Given the description of an element on the screen output the (x, y) to click on. 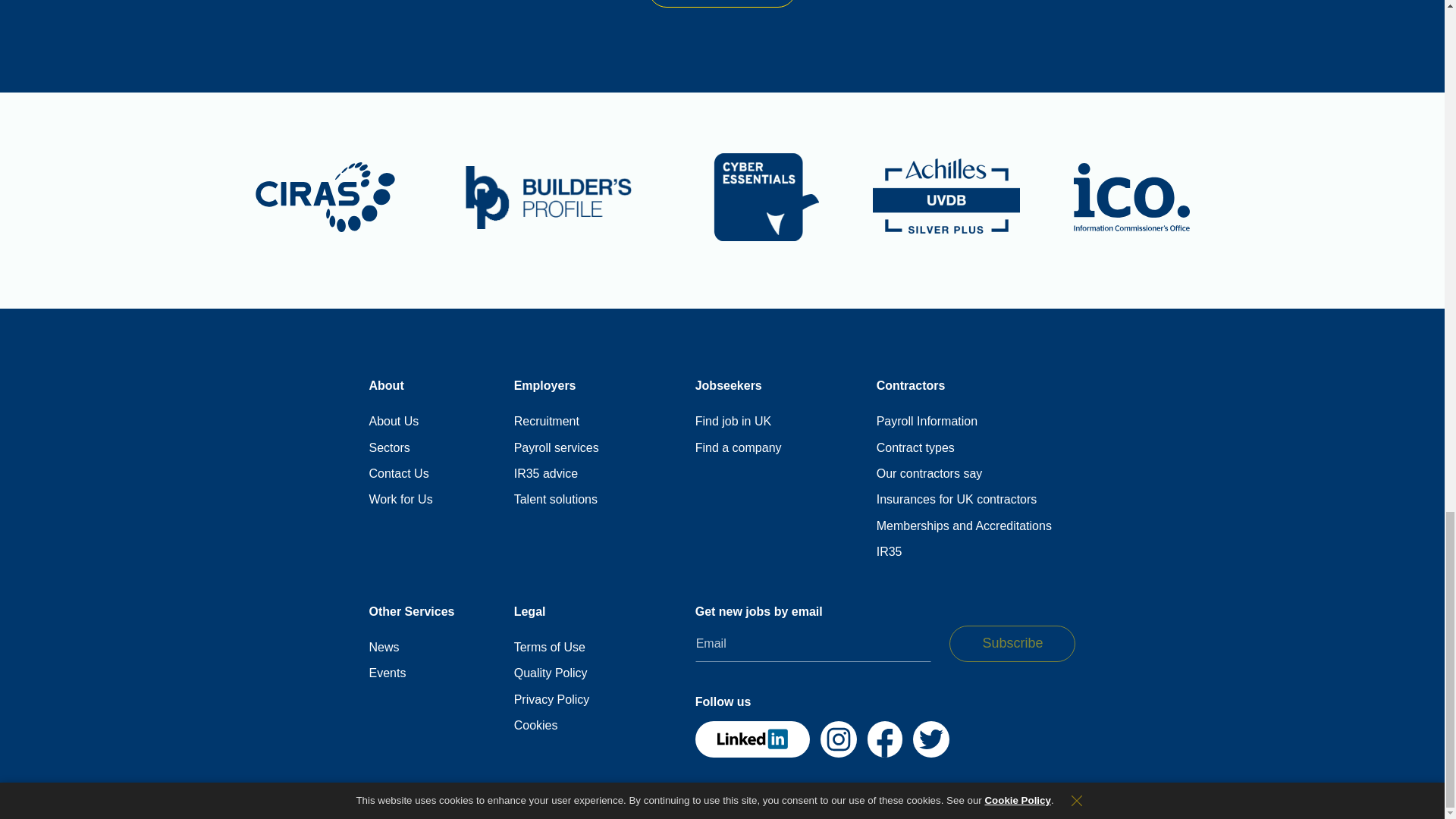
Contact Us (398, 473)
Find a company (738, 447)
Payroll Information (926, 421)
Sectors (388, 447)
Find job in UK (733, 421)
About Us (393, 421)
Get rewarded (721, 3)
open uk jobs search (733, 421)
Work for Us (400, 499)
